Given the description of an element on the screen output the (x, y) to click on. 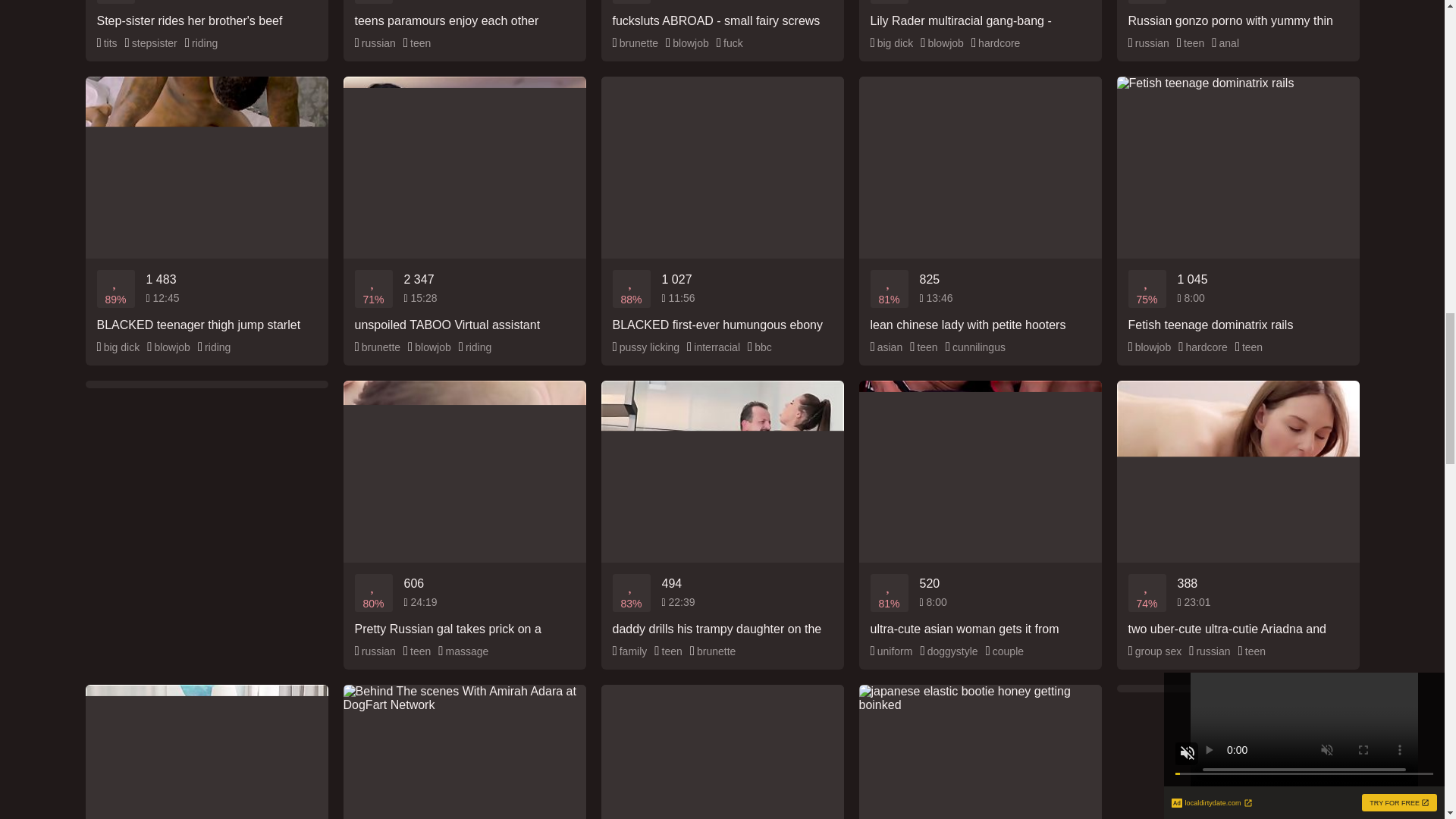
hardcore (995, 43)
big dick (892, 43)
russian (375, 43)
fuck (729, 43)
stepsister (151, 43)
russian (1148, 43)
tits (107, 43)
Lily Rader multiracial gang-bang - (979, 14)
teens paramours enjoy each other (463, 14)
teen (416, 43)
